Given the description of an element on the screen output the (x, y) to click on. 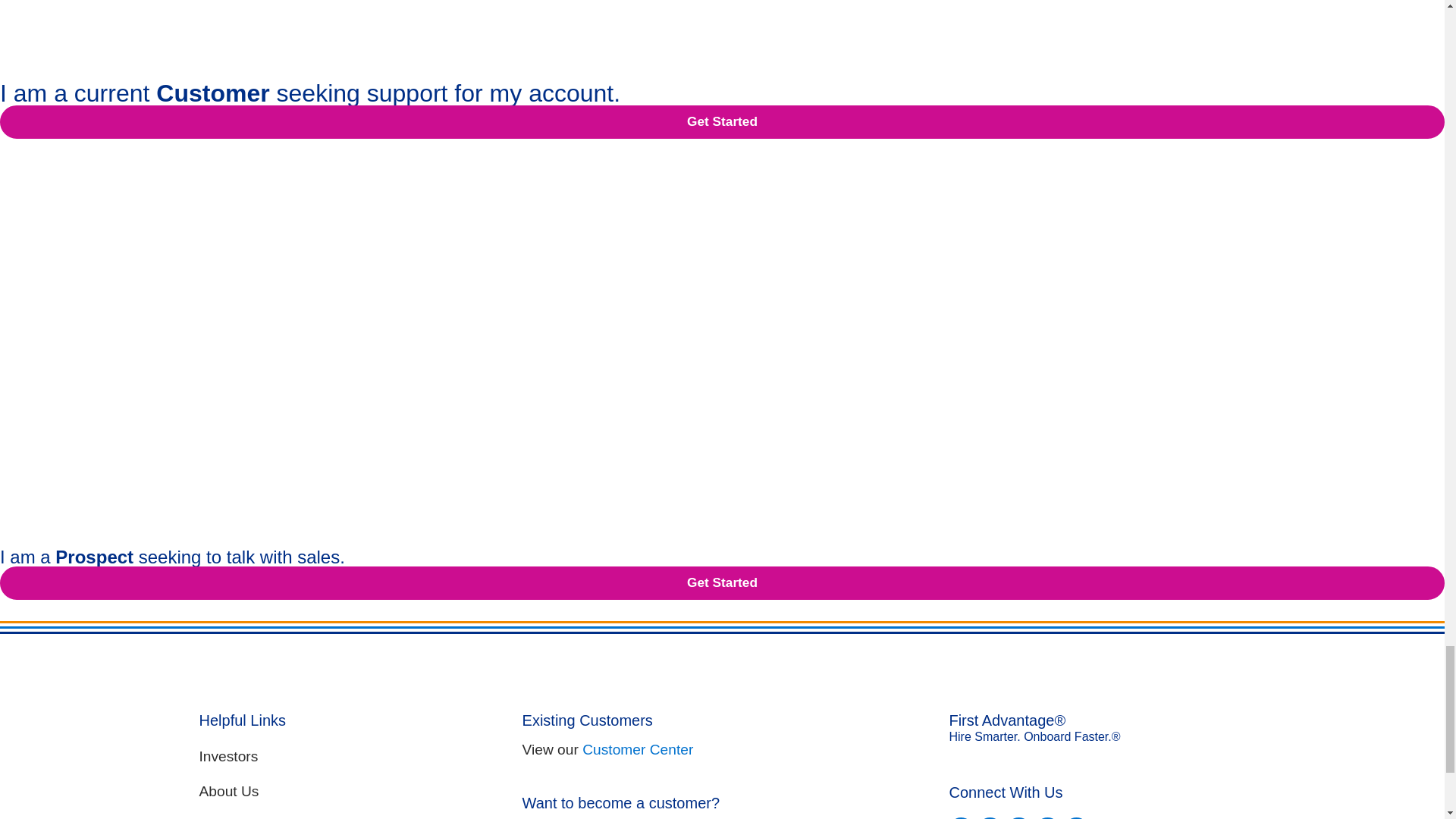
Customer Center (637, 749)
About Us (346, 791)
Investors (346, 756)
Candidates (346, 814)
